Given the description of an element on the screen output the (x, y) to click on. 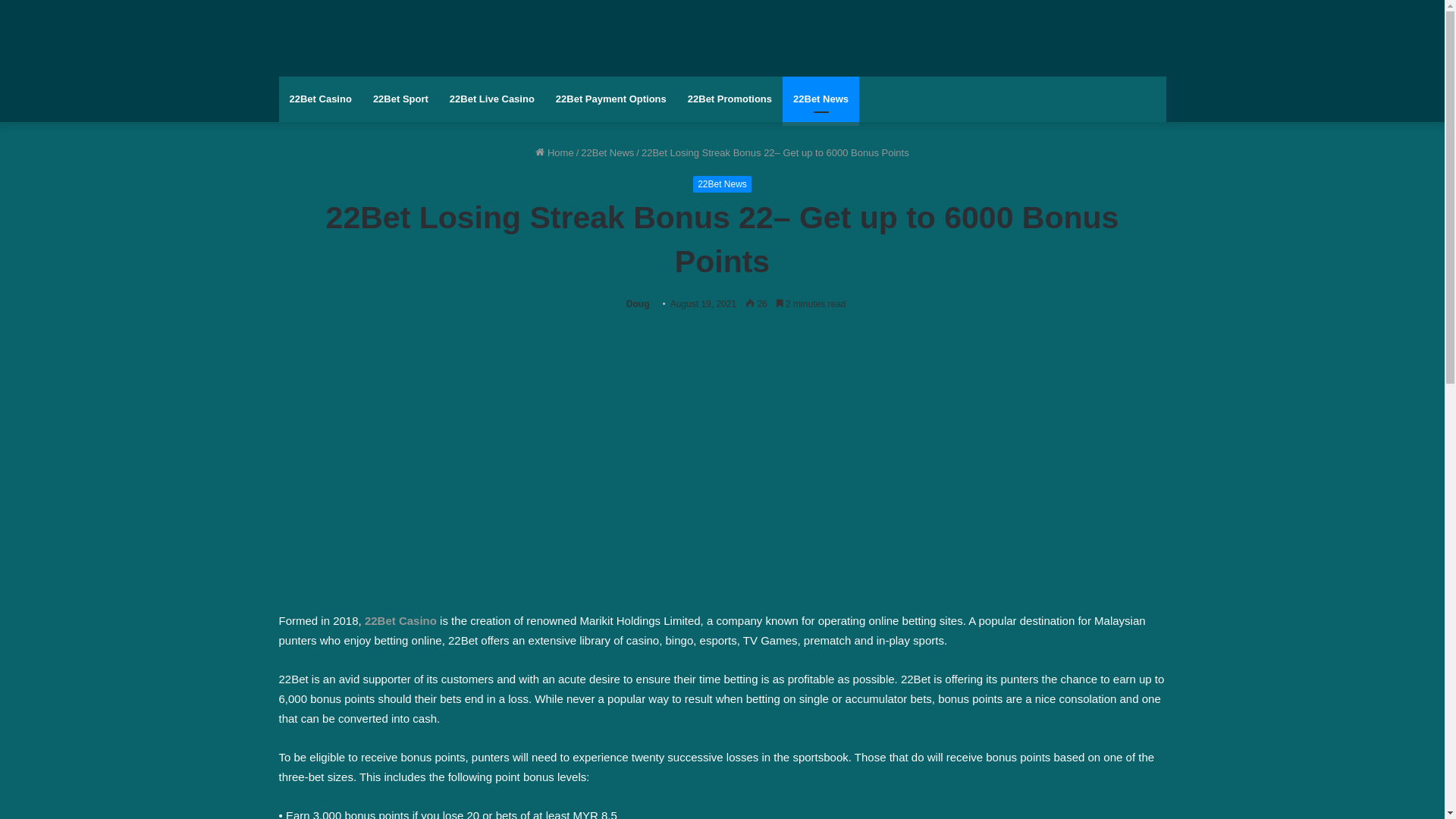
22Bet Casino Element type: text (320, 99)
22Bet News Element type: text (820, 99)
Doug Element type: text (637, 303)
22Bet Live Casino Element type: text (492, 99)
22Bet Payment Options Element type: text (611, 99)
22Bet News Element type: text (722, 183)
22Bet Promotions Element type: text (729, 99)
22Bet Sport Element type: text (400, 99)
Home Element type: text (554, 152)
22Bet News Element type: text (606, 152)
22Bet Casino Element type: text (400, 620)
